Given the description of an element on the screen output the (x, y) to click on. 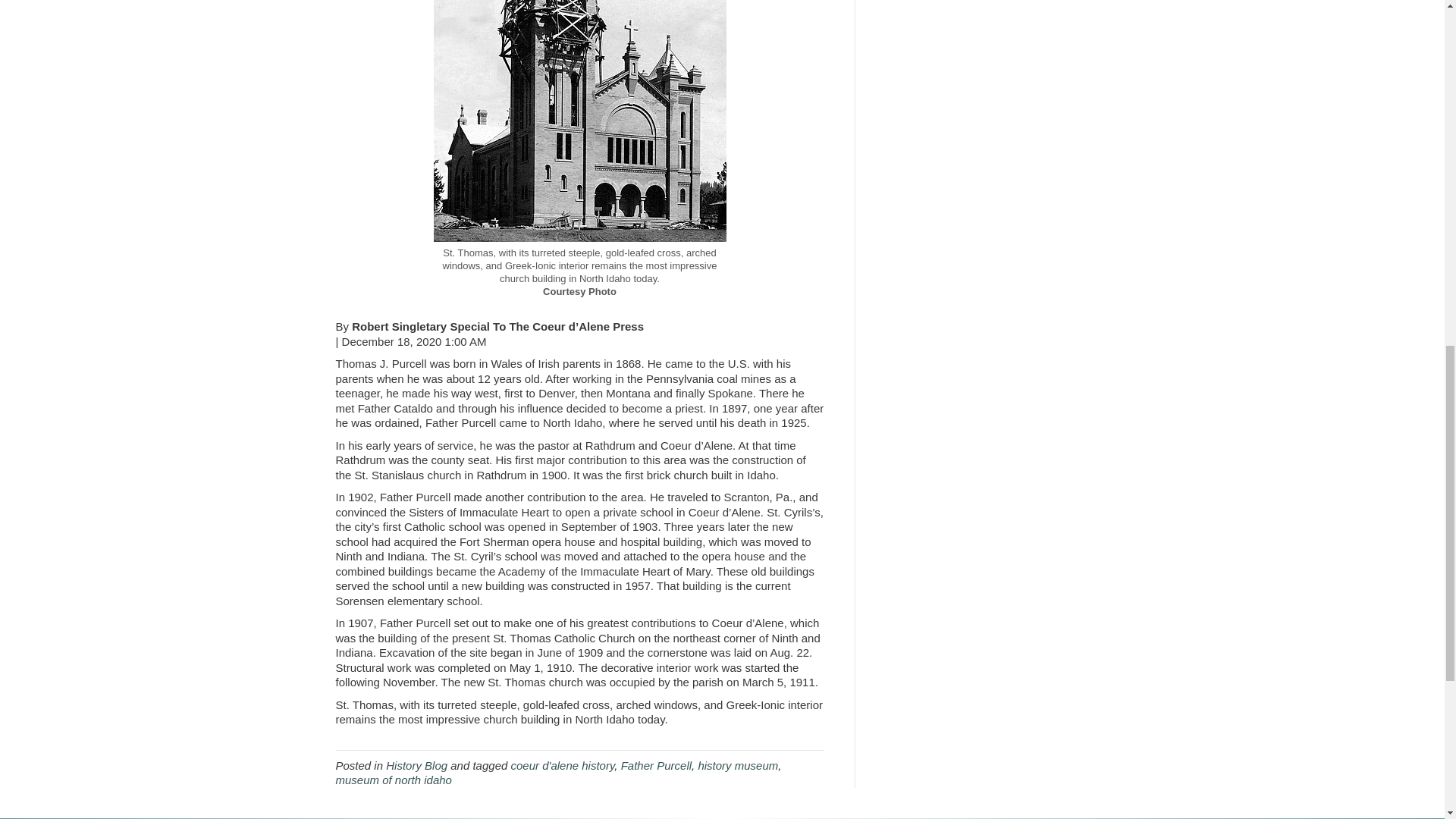
history museum (737, 765)
museum of north idaho (392, 779)
Father Purcell (656, 765)
coeur d'alene history (562, 765)
History Blog (415, 765)
